Given the description of an element on the screen output the (x, y) to click on. 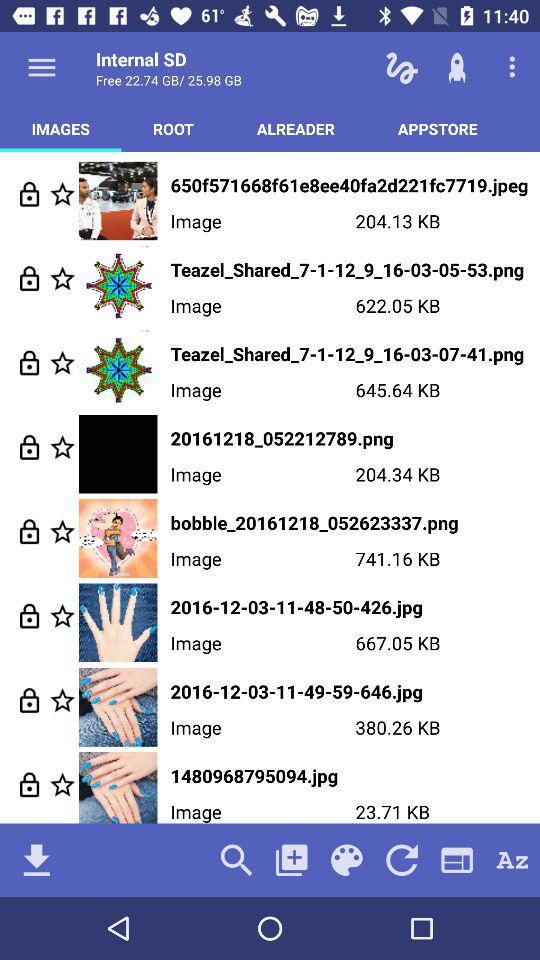
lock/unlock image (29, 278)
